Given the description of an element on the screen output the (x, y) to click on. 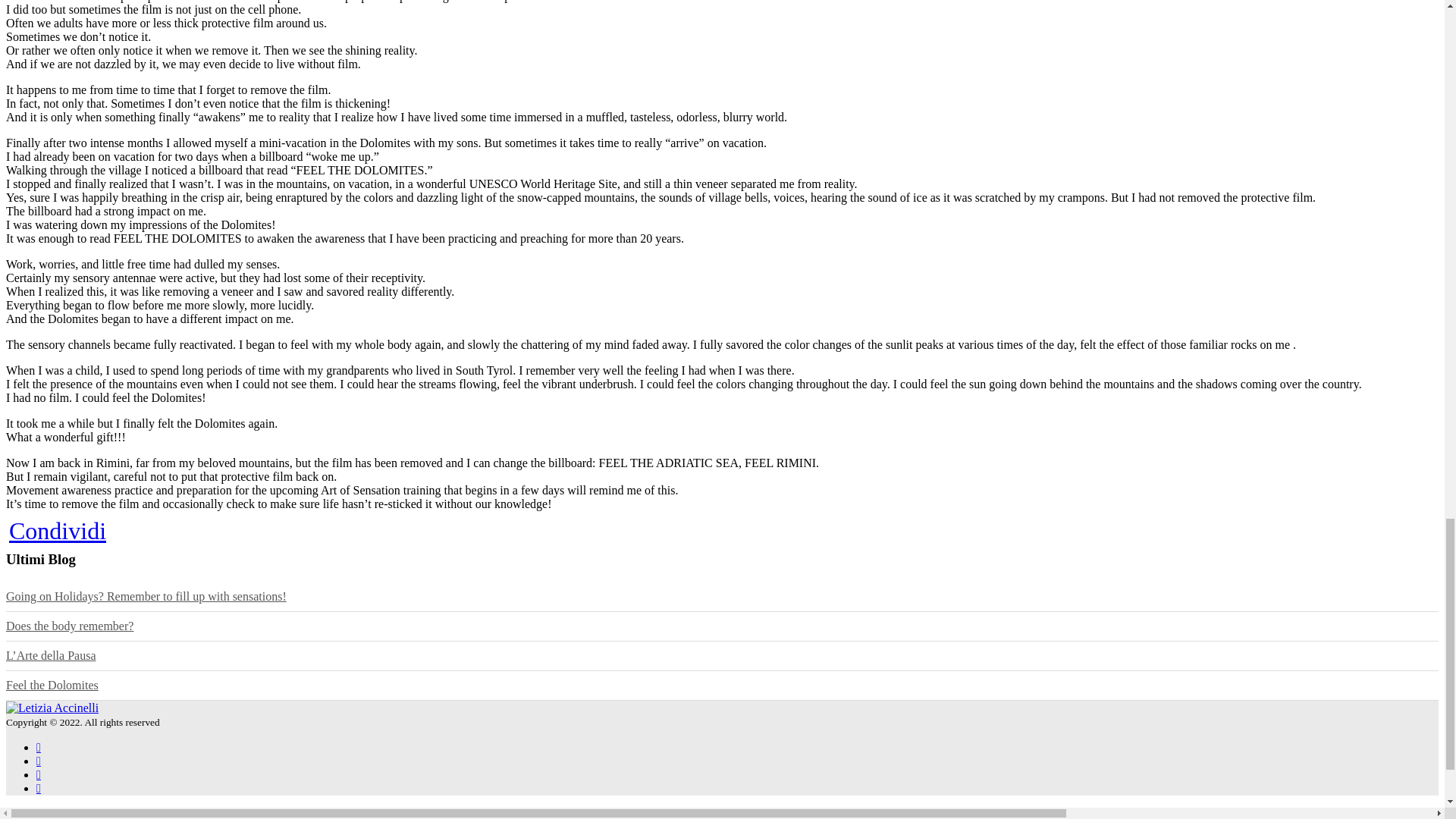
Condividi (57, 530)
Feel the Dolomites (52, 684)
Letizia Accinelli (52, 707)
Feel the Dolomites (52, 684)
Does the body remember? (69, 625)
Going on Holidays? Remember to fill up with sensations! (145, 595)
Going on Holidays? Remember to fill up with sensations! (145, 595)
Does the body remember? (69, 625)
